Given the description of an element on the screen output the (x, y) to click on. 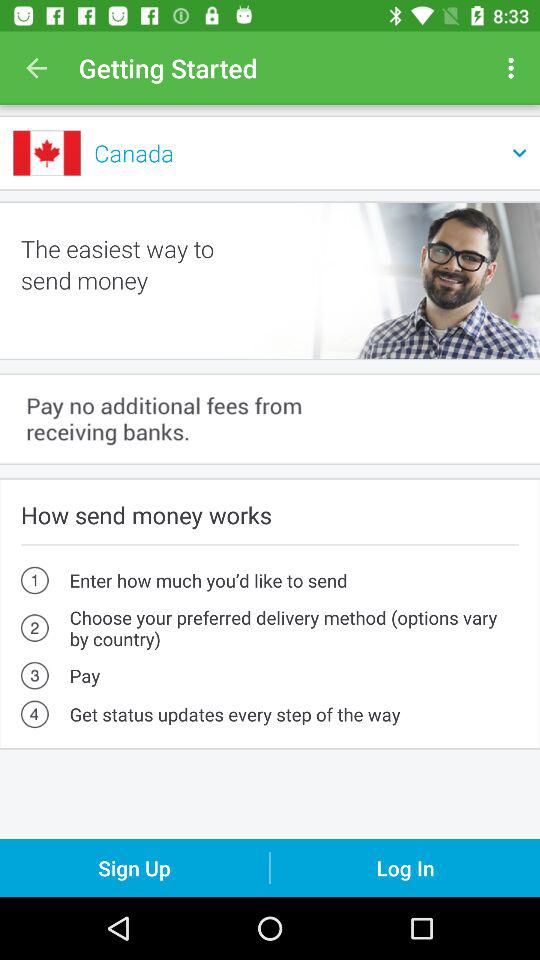
select the icon next to getting started icon (36, 68)
